Given the description of an element on the screen output the (x, y) to click on. 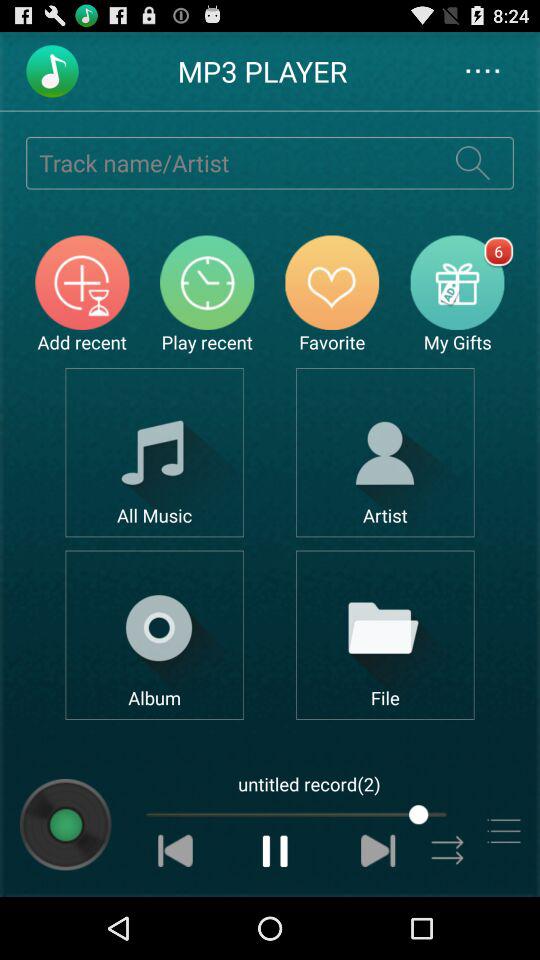
open album (154, 634)
